Given the description of an element on the screen output the (x, y) to click on. 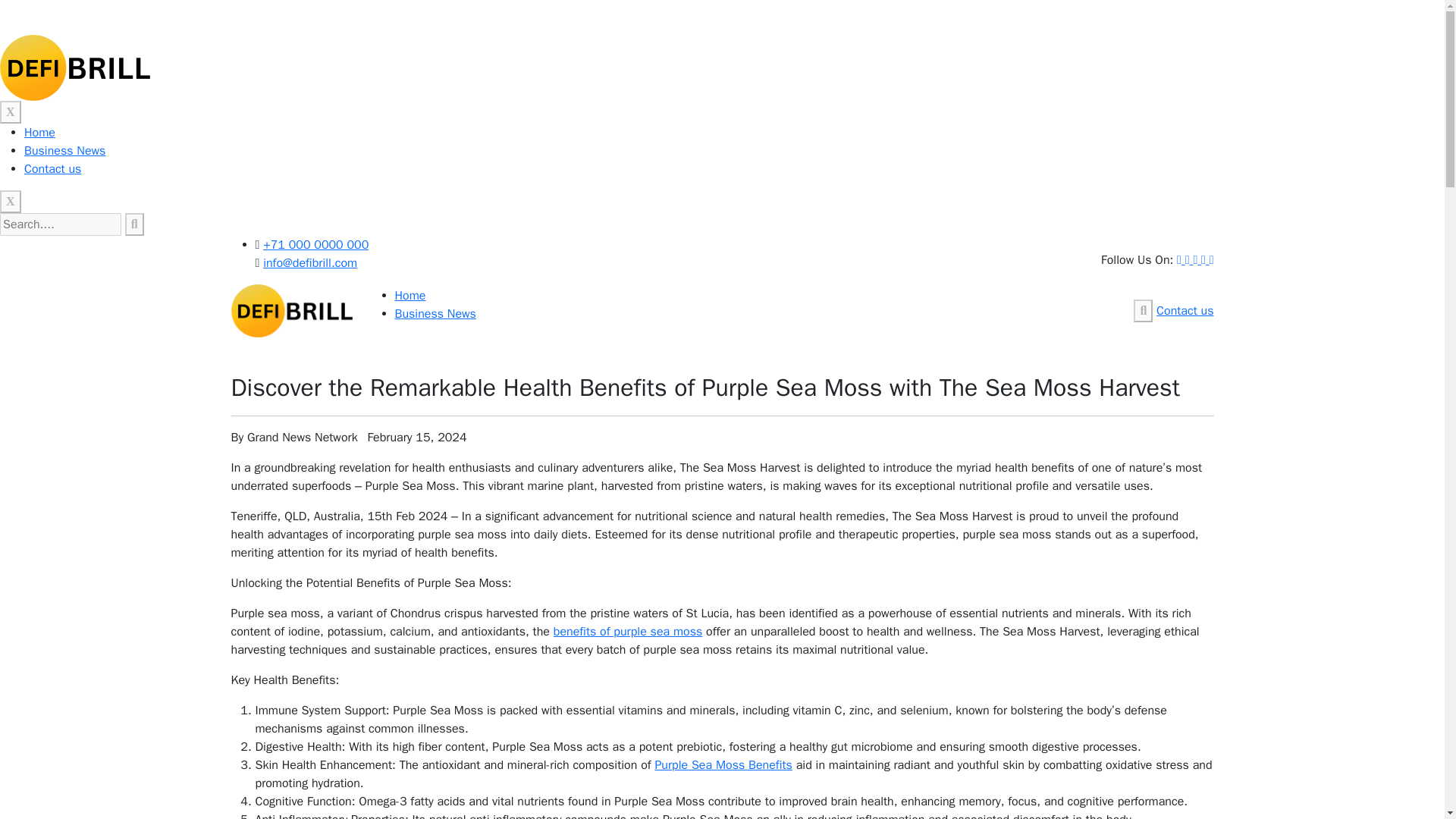
Purple Sea Moss Benefits (722, 765)
benefits of purple sea moss (628, 631)
Grand News Network (302, 437)
Home (409, 295)
Business News (64, 150)
Home (39, 132)
Contact us (1184, 310)
Contact us (52, 168)
Business News (435, 313)
